Given the description of an element on the screen output the (x, y) to click on. 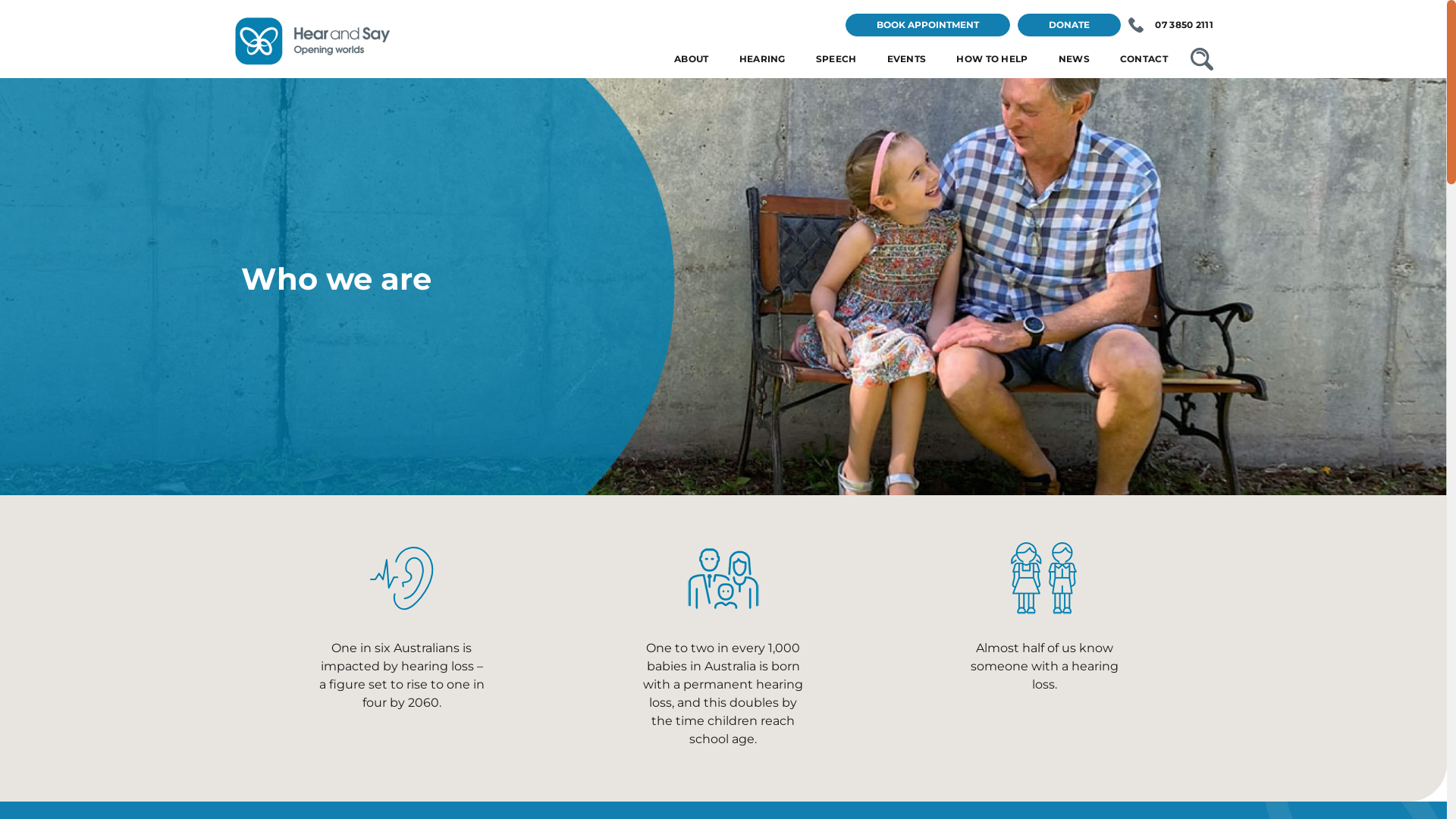
07 3850 2111 Element type: text (1170, 24)
BOOK APPOINTMENT Element type: text (927, 24)
SPEECH Element type: text (835, 58)
CONTACT Element type: text (1143, 58)
HEARING Element type: text (762, 58)
HOW TO HELP Element type: text (991, 58)
ABOUT Element type: text (691, 58)
EVENTS Element type: text (906, 58)
DONATE Element type: text (1068, 24)
Hear and Say Element type: hover (312, 61)
NEWS Element type: text (1073, 58)
